Given the description of an element on the screen output the (x, y) to click on. 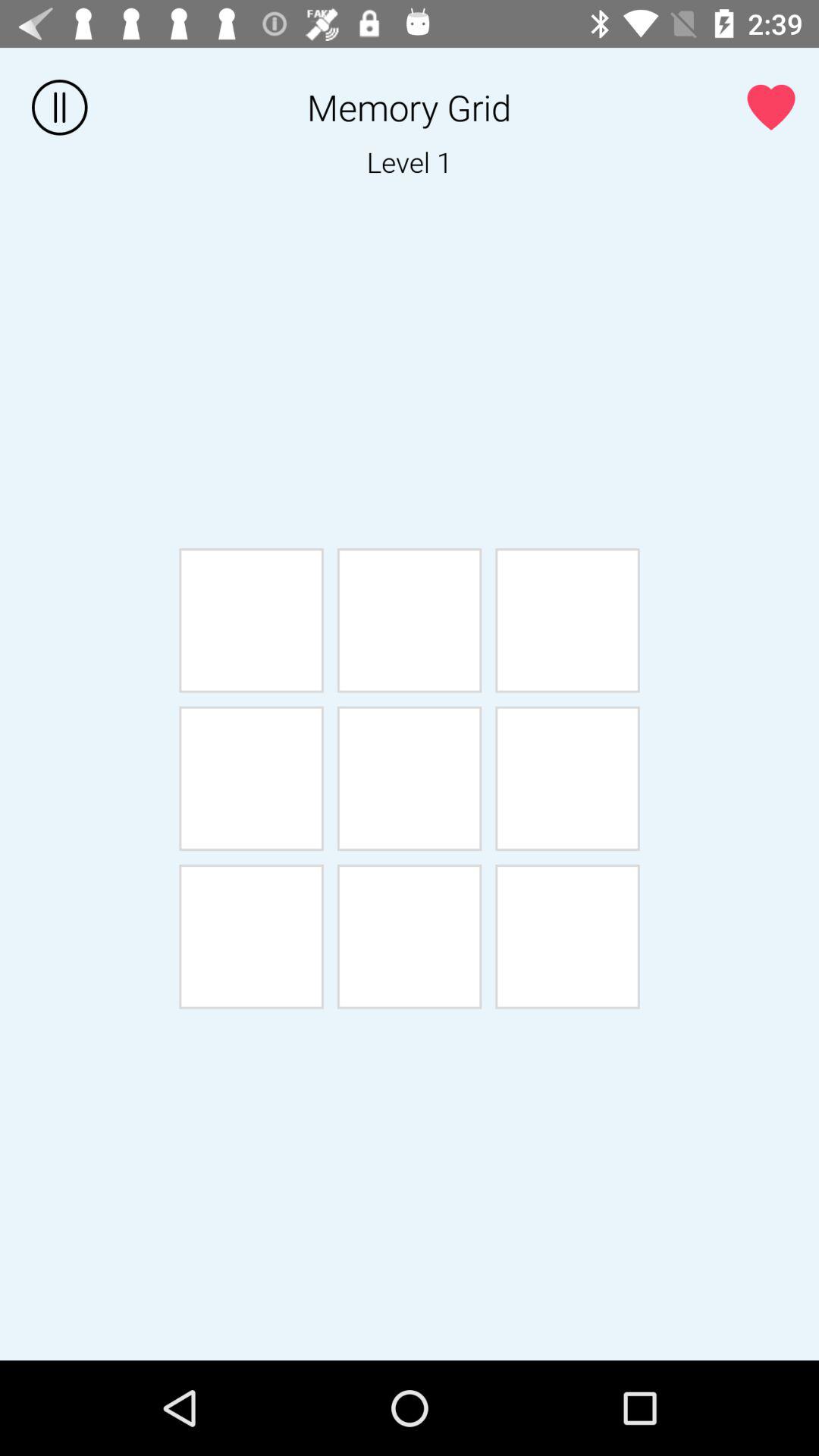
select the 5th box (409, 778)
select the sixth white box (567, 778)
select the second box from first row (409, 620)
click on love icon at the top (771, 106)
select the first box from the second row (251, 778)
